Given the description of an element on the screen output the (x, y) to click on. 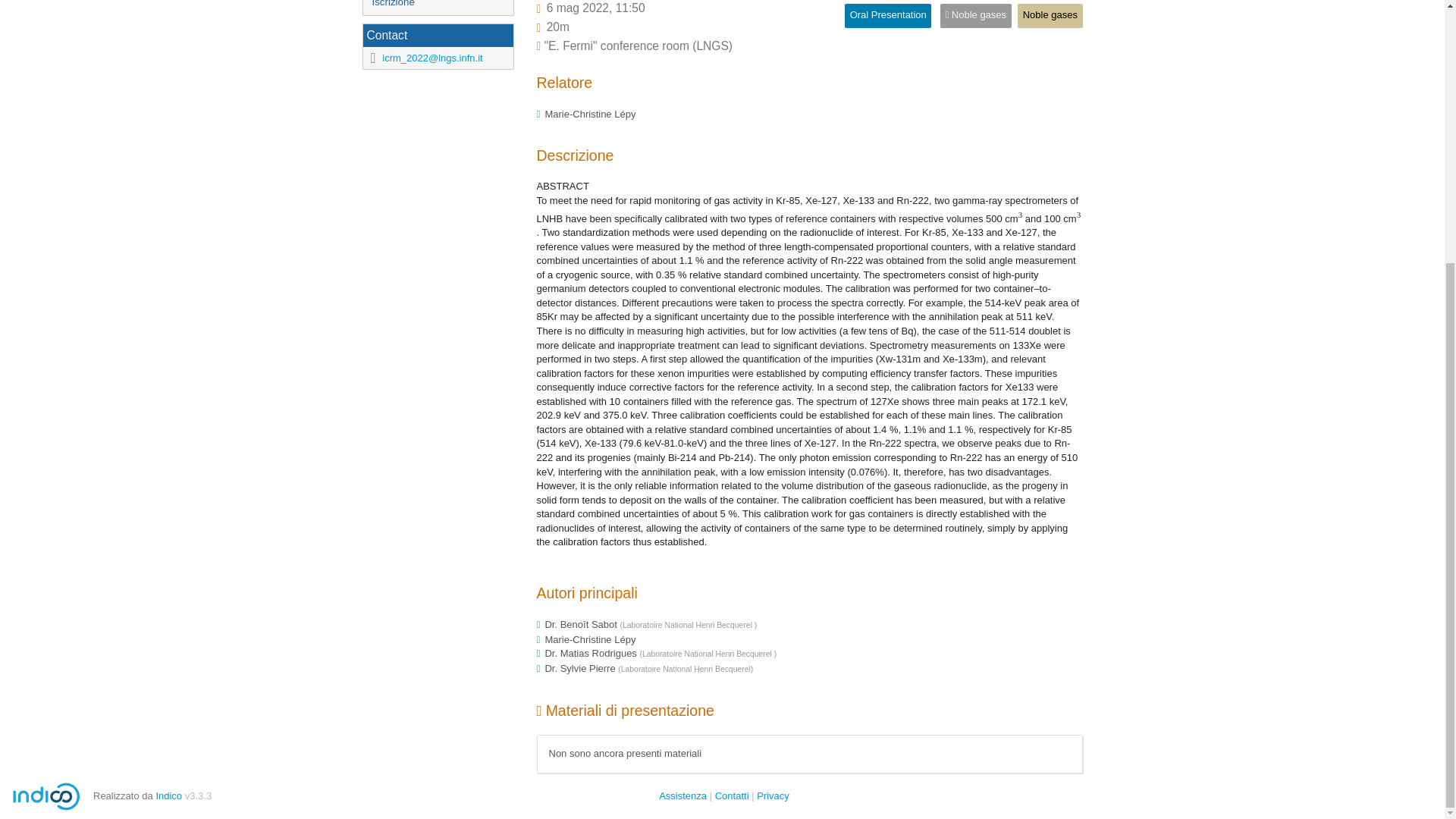
Iscrizione (437, 7)
Durata (558, 26)
